Given the description of an element on the screen output the (x, y) to click on. 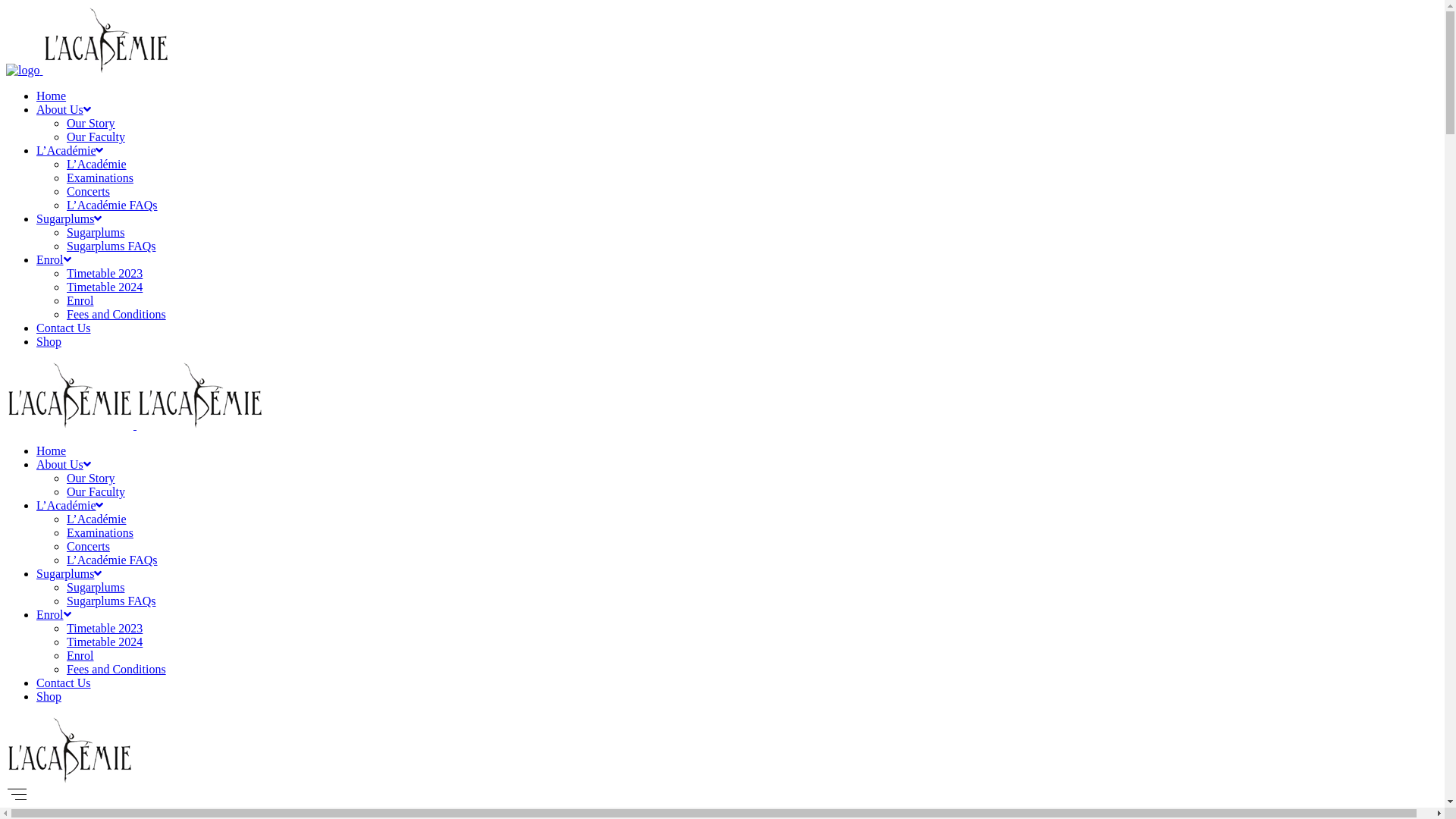
Sugarplums Element type: text (68, 218)
About Us Element type: text (63, 464)
Sugarplums FAQs Element type: text (111, 600)
Home Element type: text (50, 95)
Contact Us Element type: text (63, 682)
Fees and Conditions Element type: text (116, 668)
Our Faculty Element type: text (95, 491)
Enrol Element type: text (53, 259)
Enrol Element type: text (80, 300)
Our Story Element type: text (90, 122)
Sugarplums Element type: text (68, 573)
Enrol Element type: text (80, 655)
Timetable 2023 Element type: text (104, 272)
Enrol Element type: text (53, 614)
Concerts Element type: text (87, 191)
Concerts Element type: text (87, 545)
Examinations Element type: text (99, 177)
Sugarplums Element type: text (95, 586)
Home Element type: text (50, 450)
Fees and Conditions Element type: text (116, 313)
Timetable 2024 Element type: text (104, 286)
Sugarplums FAQs Element type: text (111, 245)
Contact Us Element type: text (63, 327)
Sugarplums Element type: text (95, 231)
Our Story Element type: text (90, 477)
Examinations Element type: text (99, 532)
Our Faculty Element type: text (95, 136)
Timetable 2024 Element type: text (104, 641)
Shop Element type: text (48, 696)
Timetable 2023 Element type: text (104, 627)
Shop Element type: text (48, 341)
About Us Element type: text (63, 109)
